Given the description of an element on the screen output the (x, y) to click on. 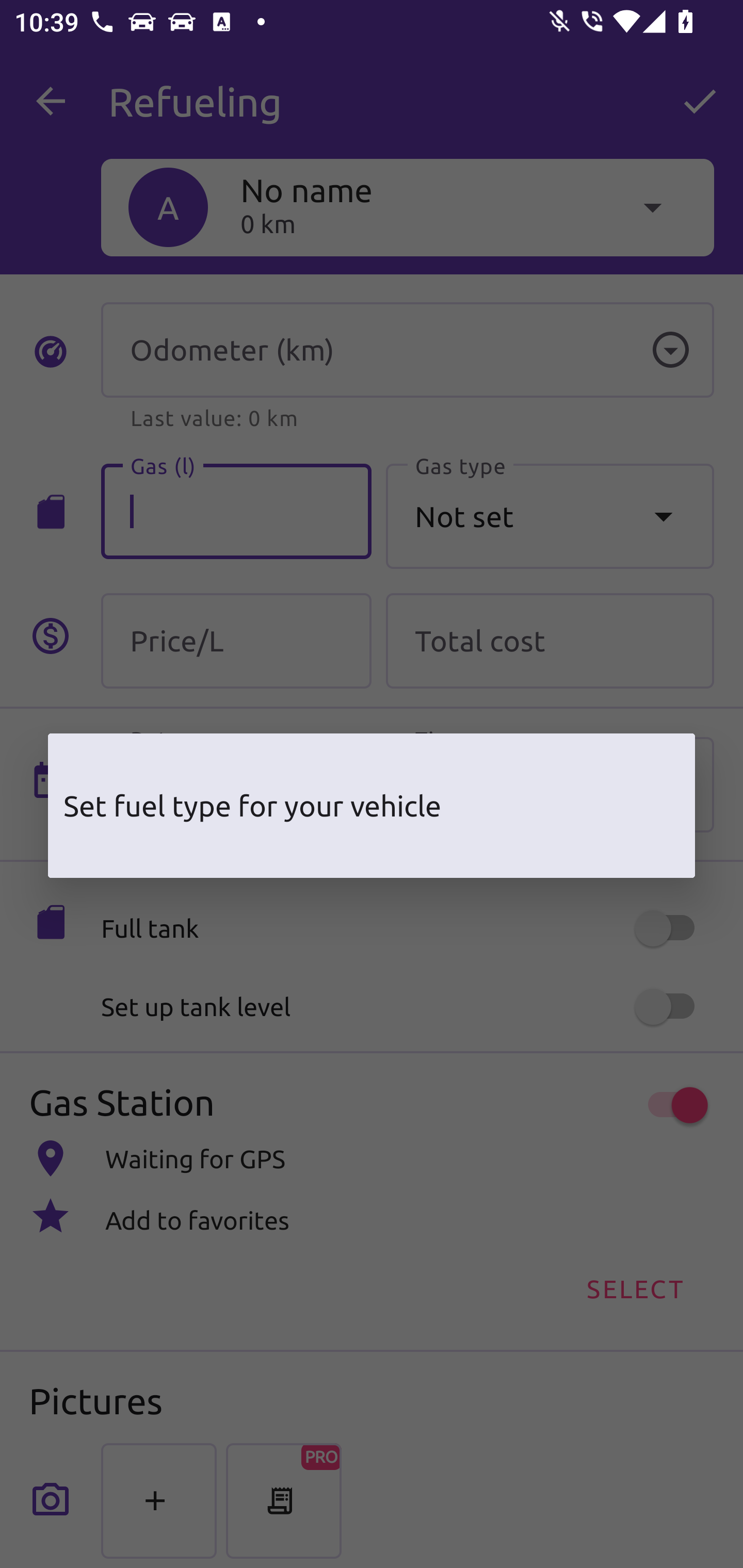
Set fuel type for your vehicle (371, 805)
